Given the description of an element on the screen output the (x, y) to click on. 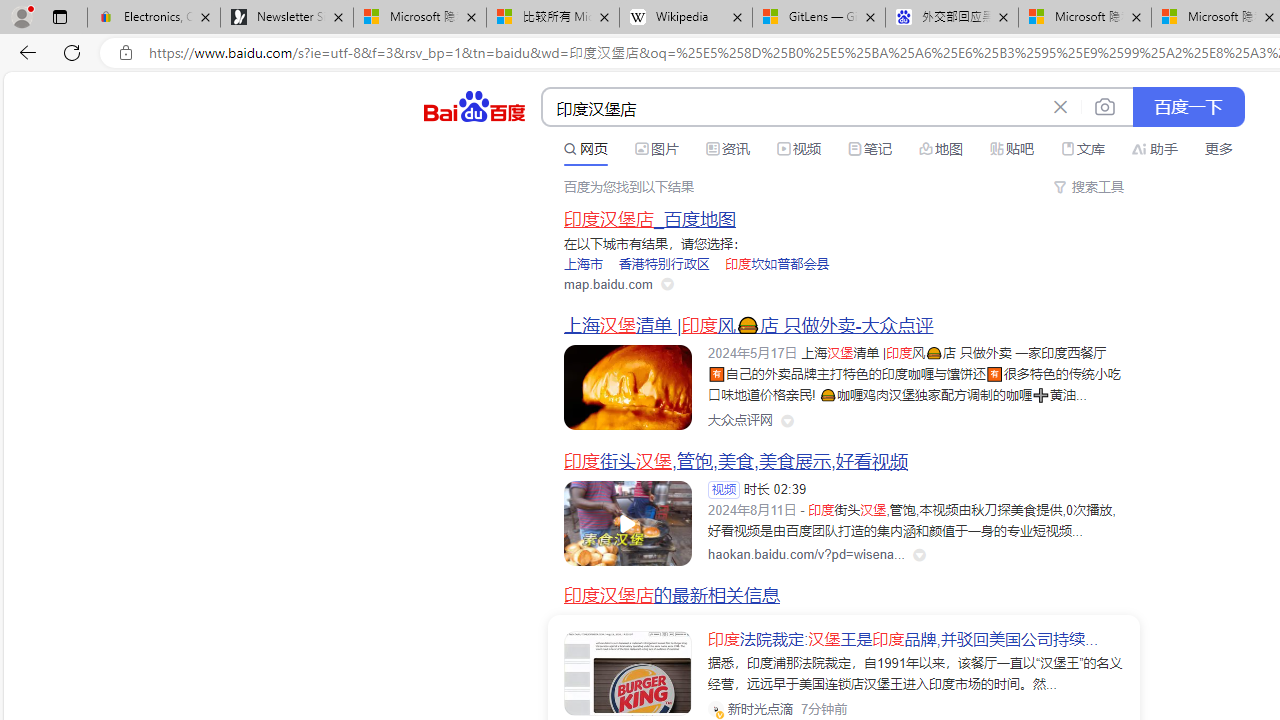
Electronics, Cars, Fashion, Collectibles & More | eBay (154, 17)
Class: c-img c-img-radius-large (628, 673)
Class: siteLink_9TPP3 (740, 421)
